Given the description of an element on the screen output the (x, y) to click on. 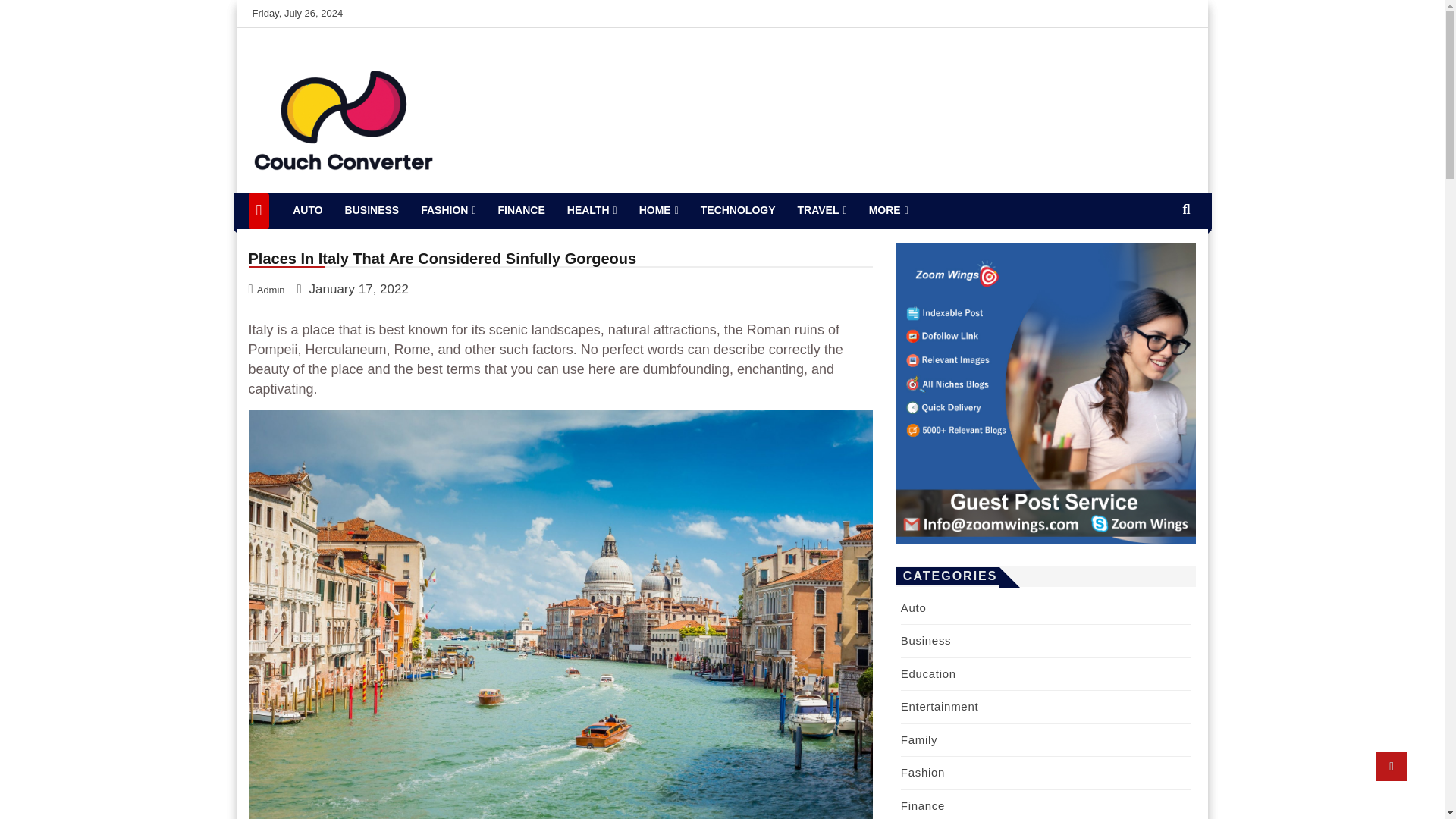
HOME (658, 210)
Admin (268, 288)
FASHION (448, 210)
MORE (888, 210)
BUSINESS (372, 210)
TRAVEL (822, 210)
AUTO (307, 210)
HEALTH (591, 210)
FINANCE (521, 210)
TECHNOLOGY (738, 210)
January 17, 2022 (353, 288)
